Given the description of an element on the screen output the (x, y) to click on. 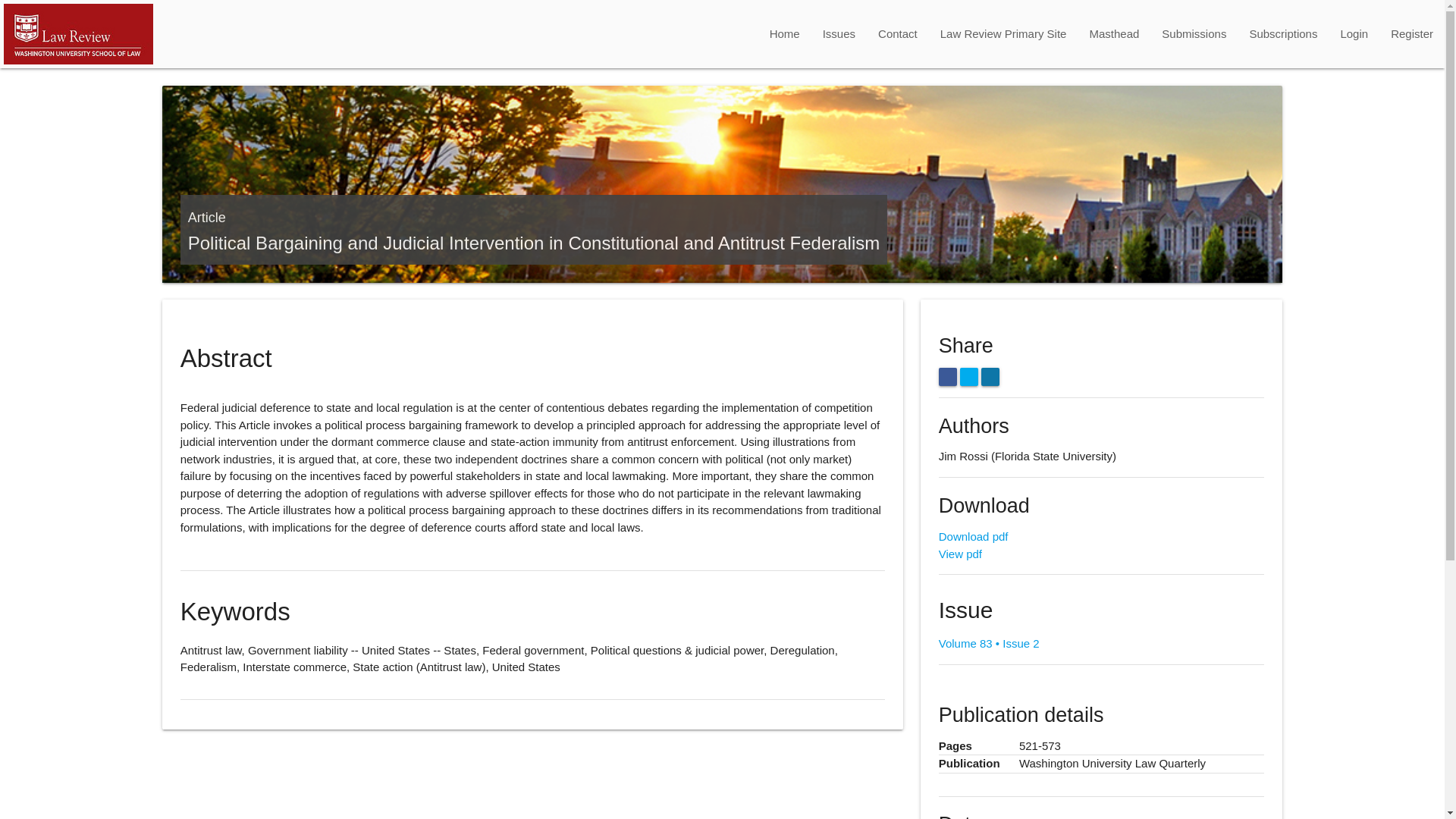
Masthead (1113, 33)
Contact (897, 33)
Subscriptions (1282, 33)
Law Review Primary Site (1003, 33)
View pdf (960, 553)
Submissions (1193, 33)
Download pdf (974, 535)
